Given the description of an element on the screen output the (x, y) to click on. 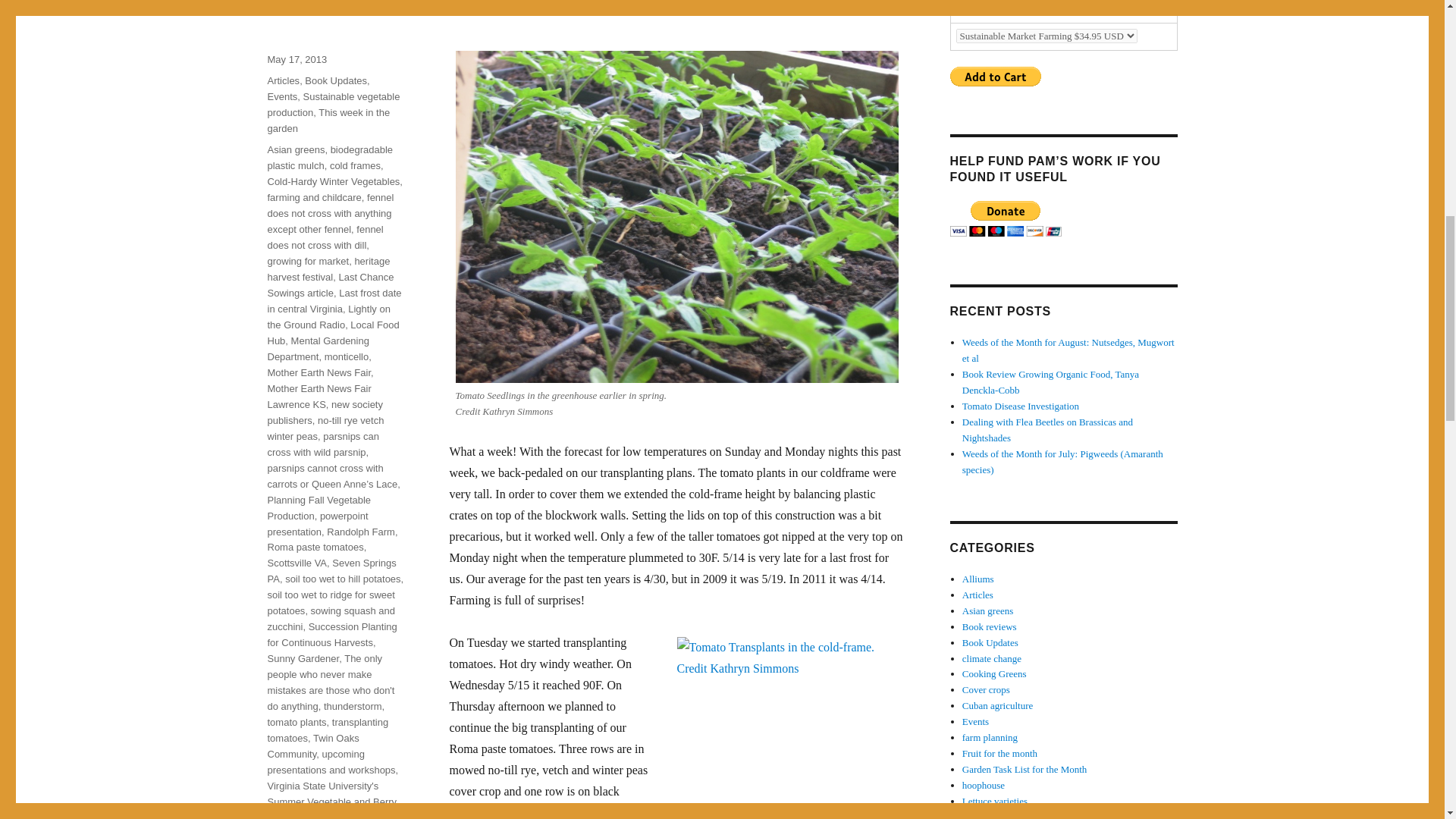
Events (281, 96)
farming and childcare (313, 197)
PayPal - The safer, easier way to pay online! (1005, 218)
Articles (282, 80)
May 17, 2013 (296, 59)
cold frames (355, 165)
Frost, tomatoes, sun, rain, mistakes and future events (556, 8)
Book Updates (335, 80)
Cold-Hardy Winter Vegetables (332, 181)
biodegradable plastic mulch (329, 157)
Asian greens (295, 149)
Sustainable vegetable production (332, 103)
This week in the garden (328, 120)
